Given the description of an element on the screen output the (x, y) to click on. 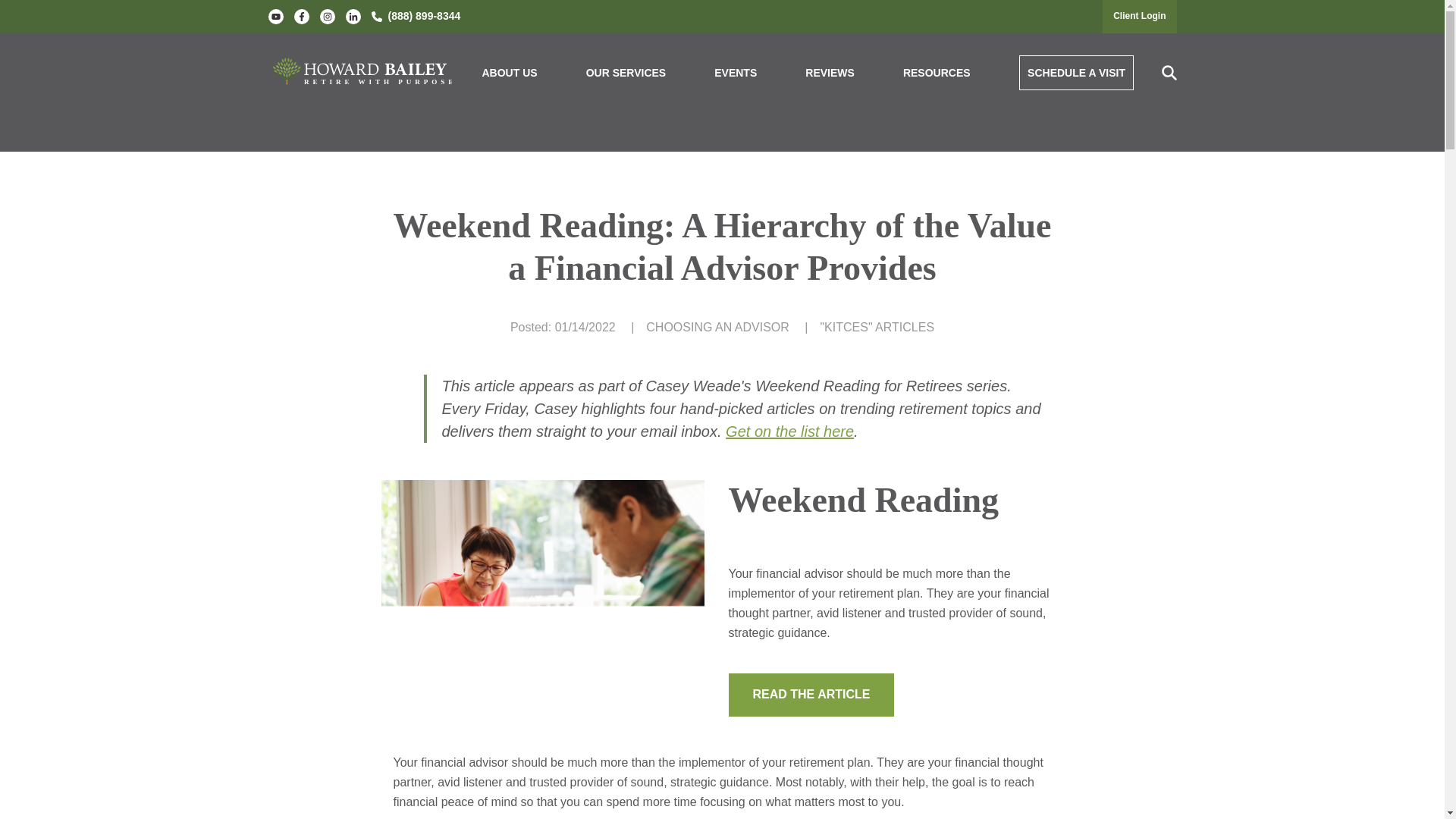
EVENTS (735, 72)
SCHEDULE A VISIT (1077, 72)
REVIEWS (829, 72)
ABOUT US (509, 72)
RESOURCES (936, 72)
OUR SERVICES (626, 72)
Client Login (1139, 16)
